Given the description of an element on the screen output the (x, y) to click on. 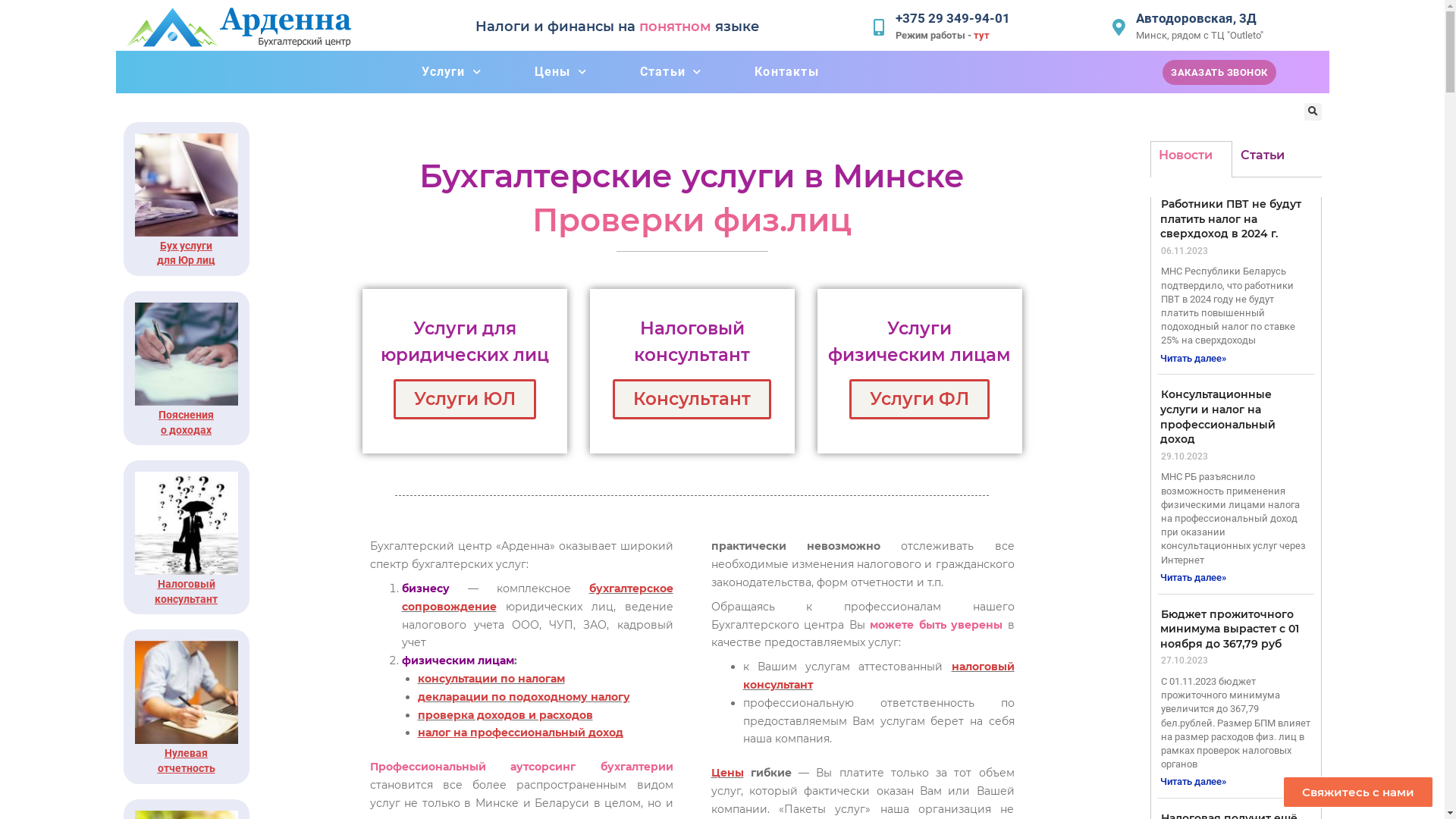
+375 29 349-94-01 Element type: text (952, 17)
